Given the description of an element on the screen output the (x, y) to click on. 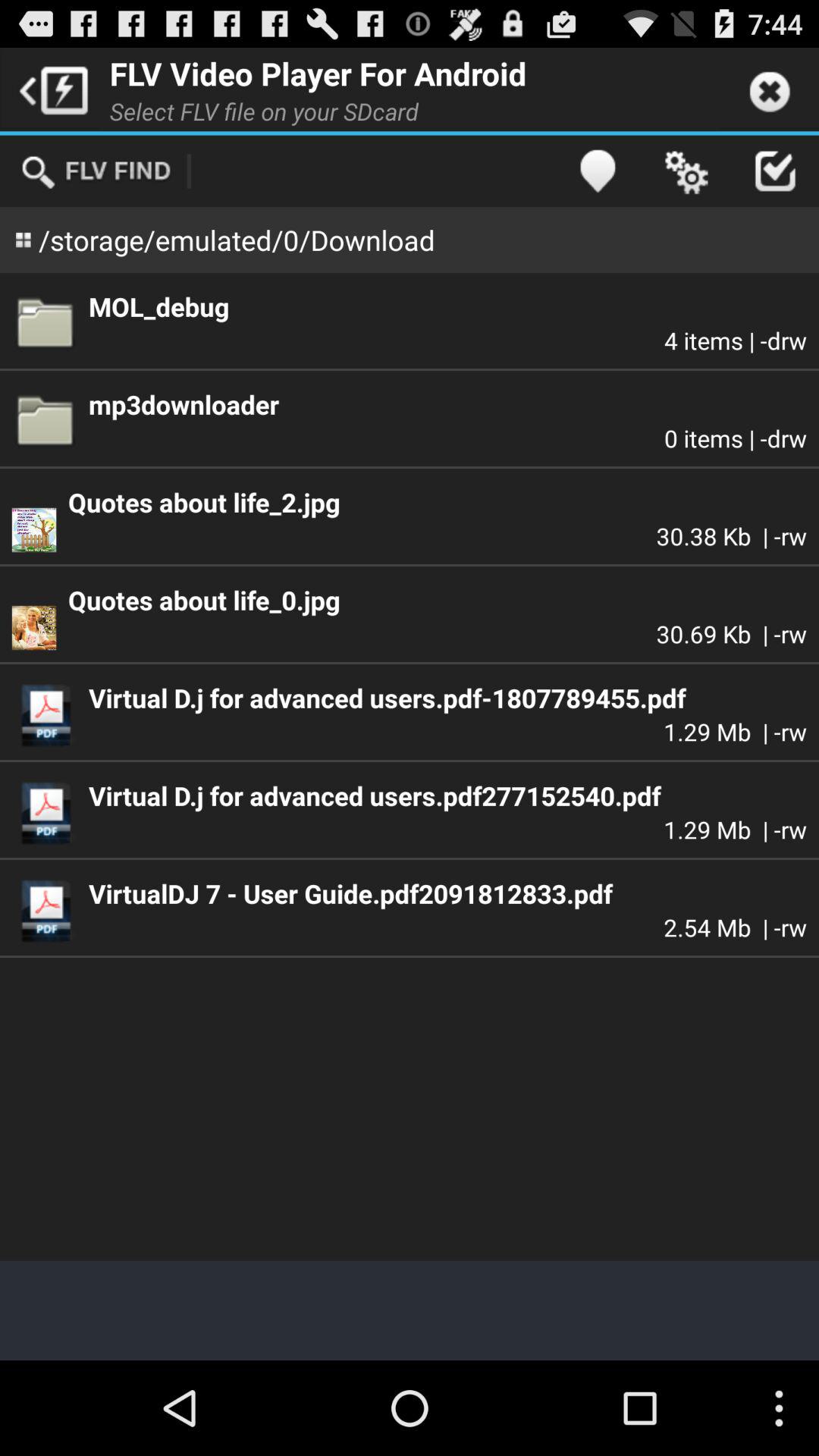
press item to the left of flv video player icon (49, 89)
